Given the description of an element on the screen output the (x, y) to click on. 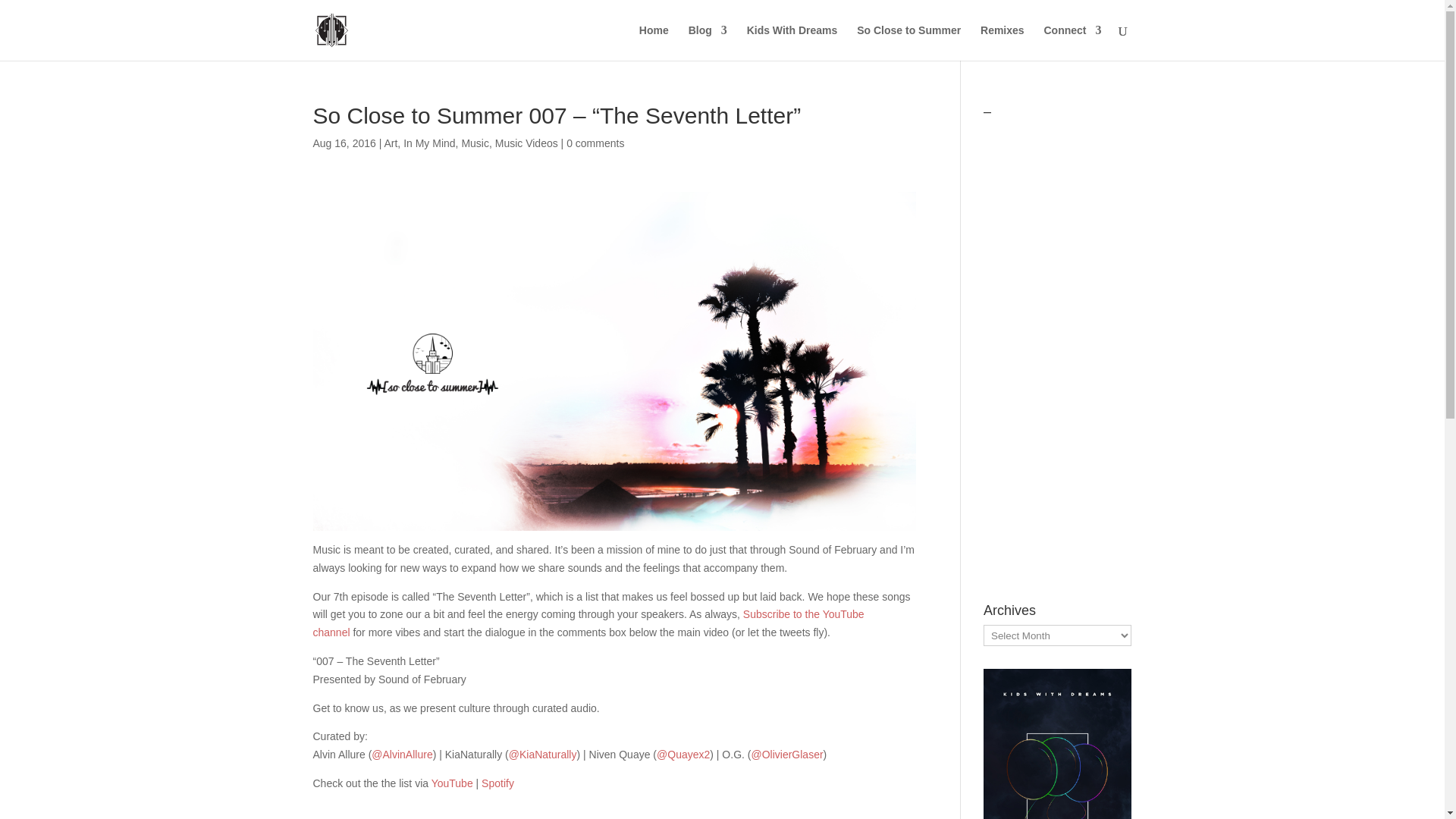
Art (390, 143)
Remixes (1002, 42)
Connect (1071, 42)
Blog (707, 42)
So Close to Summer (908, 42)
Kids With Dreams (792, 42)
